Given the description of an element on the screen output the (x, y) to click on. 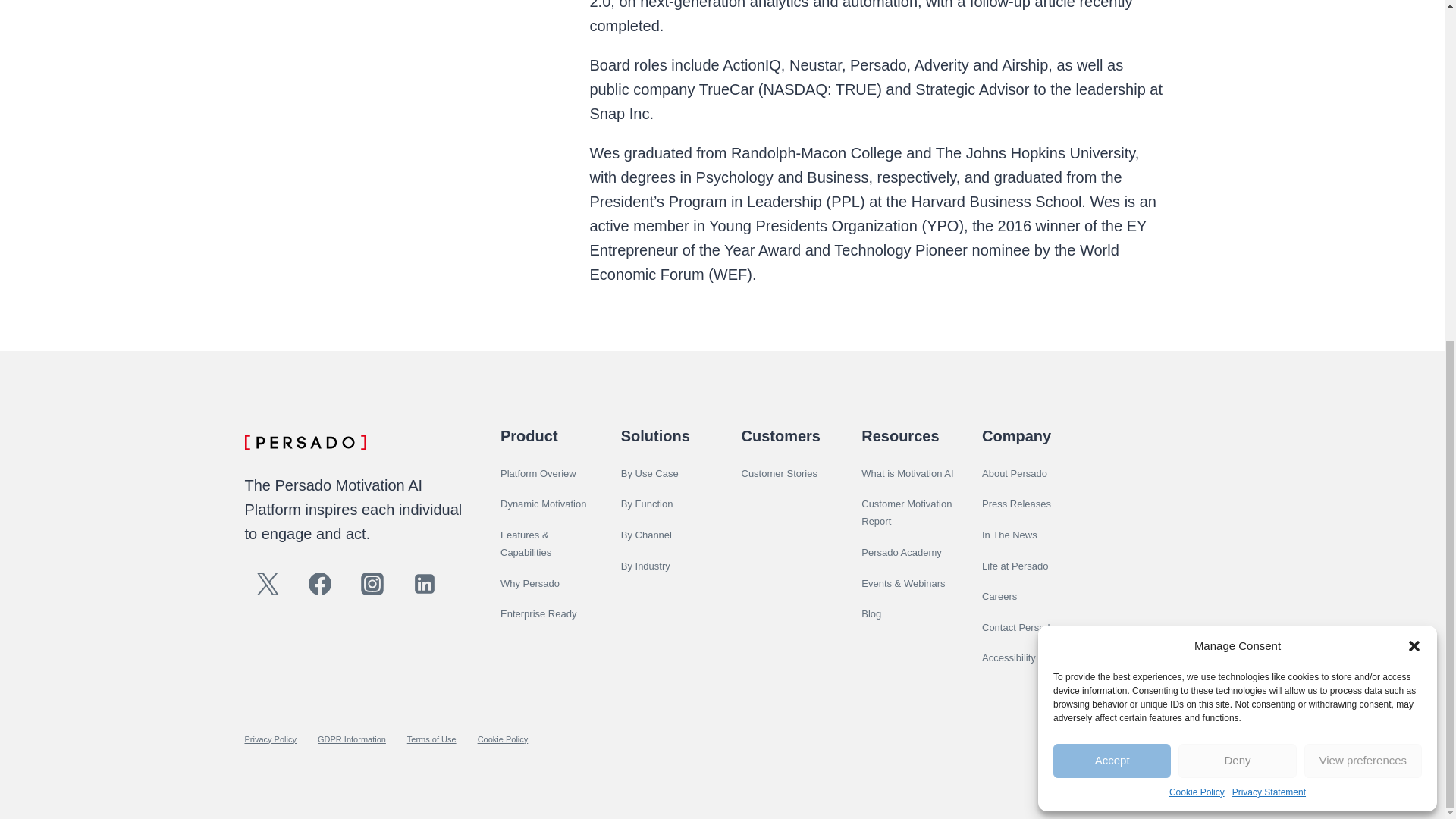
Privacy Statement (1268, 213)
Cookie Policy (1196, 213)
View preferences (1363, 181)
Deny (1236, 181)
Accept (1111, 181)
